Given the description of an element on the screen output the (x, y) to click on. 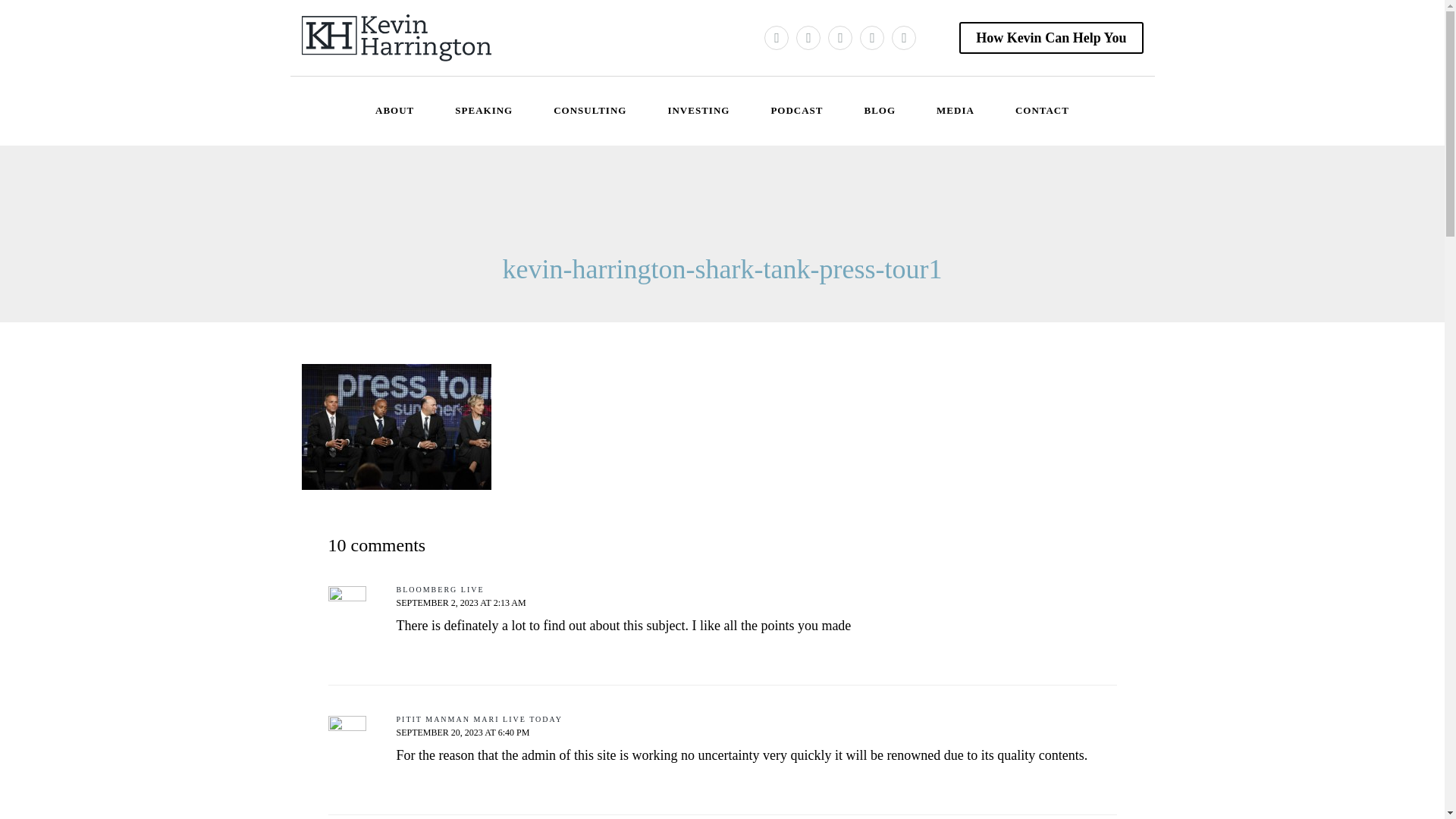
CONSULTING (590, 110)
BLOOMBERG LIVE (439, 589)
MEDIA (955, 110)
ABOUT (394, 110)
PODCAST (797, 110)
SEPTEMBER 2, 2023 AT 2:13 AM (460, 602)
INVESTING (698, 110)
PITIT MANMAN MARI LIVE TODAY (479, 718)
CONTACT (1042, 110)
SEPTEMBER 20, 2023 AT 6:40 PM (462, 732)
